Given the description of an element on the screen output the (x, y) to click on. 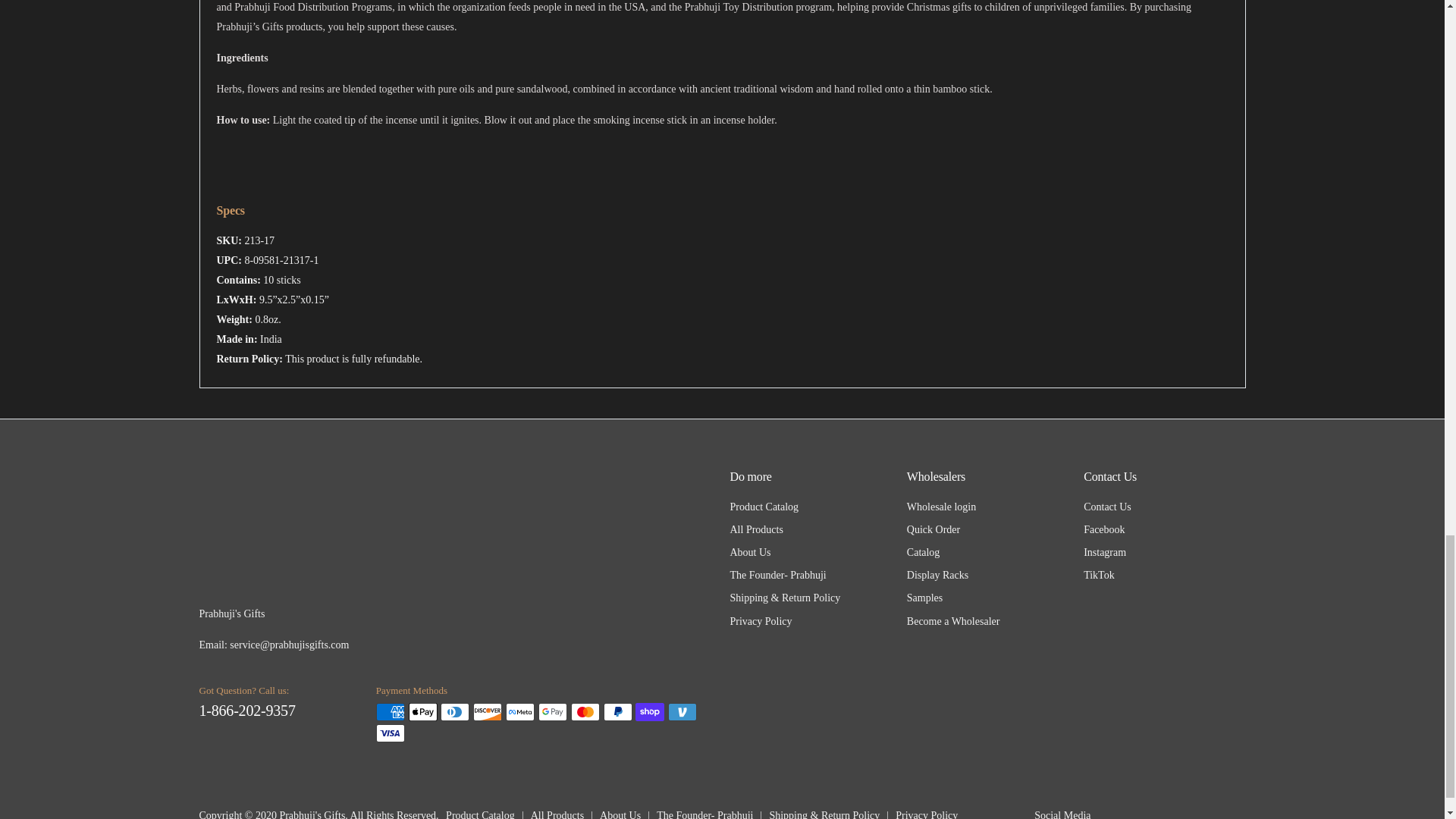
Shop Pay (648, 711)
American Express (389, 711)
Meta Pay (519, 711)
Venmo (682, 711)
PayPal (617, 711)
Apple Pay (423, 711)
Discover (487, 711)
Google Pay (552, 711)
Mastercard (584, 711)
Visa (389, 732)
Diners Club (454, 711)
